Given the description of an element on the screen output the (x, y) to click on. 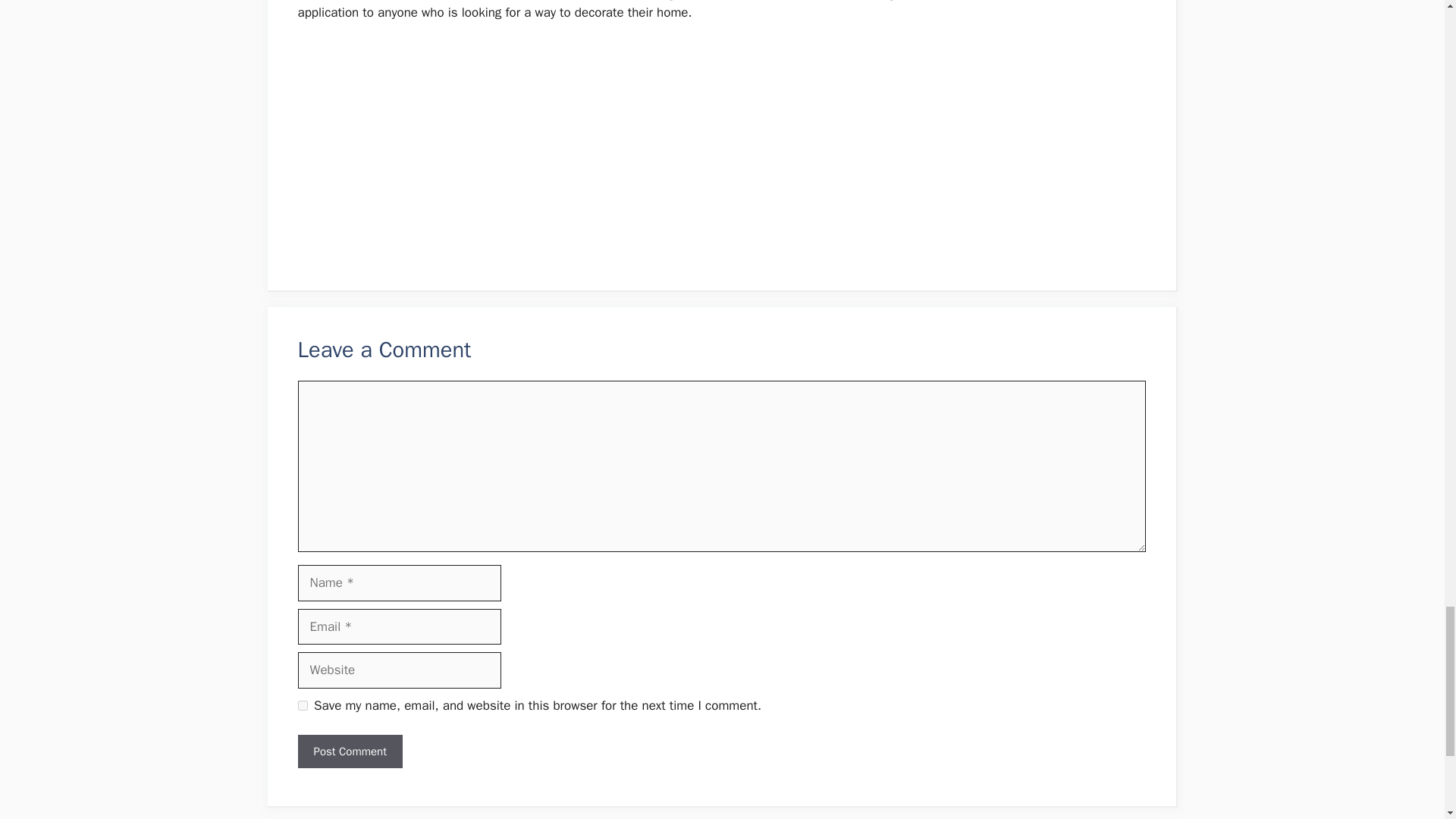
Post Comment (349, 751)
yes (302, 705)
Post Comment (349, 751)
